Given the description of an element on the screen output the (x, y) to click on. 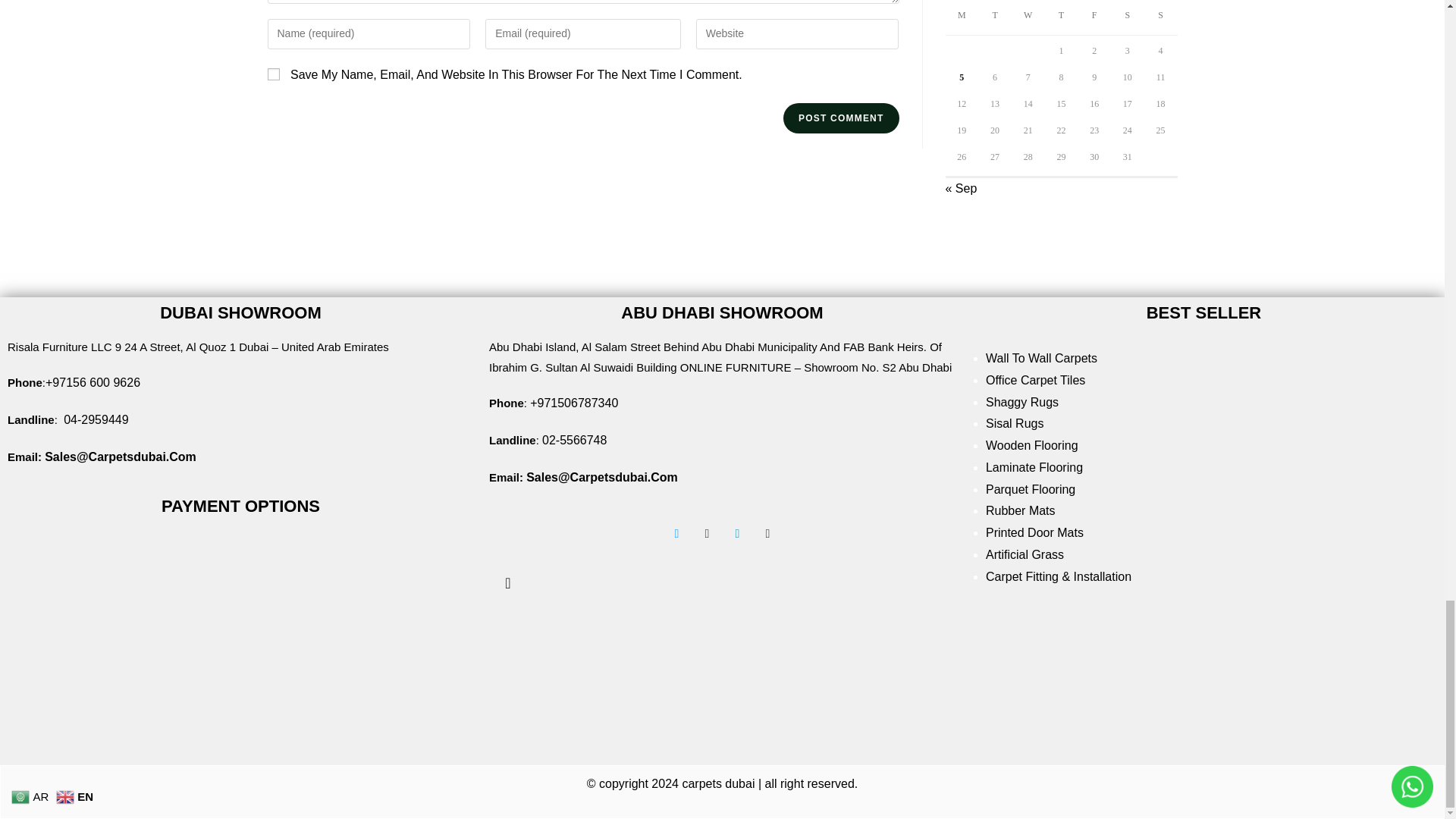
Monday (961, 17)
Saturday (1127, 17)
Post Comment (840, 118)
Thursday (1061, 17)
Wednesday (1028, 17)
Tuesday (994, 17)
Sunday (1160, 17)
yes (272, 73)
Friday (1093, 17)
